Given the description of an element on the screen output the (x, y) to click on. 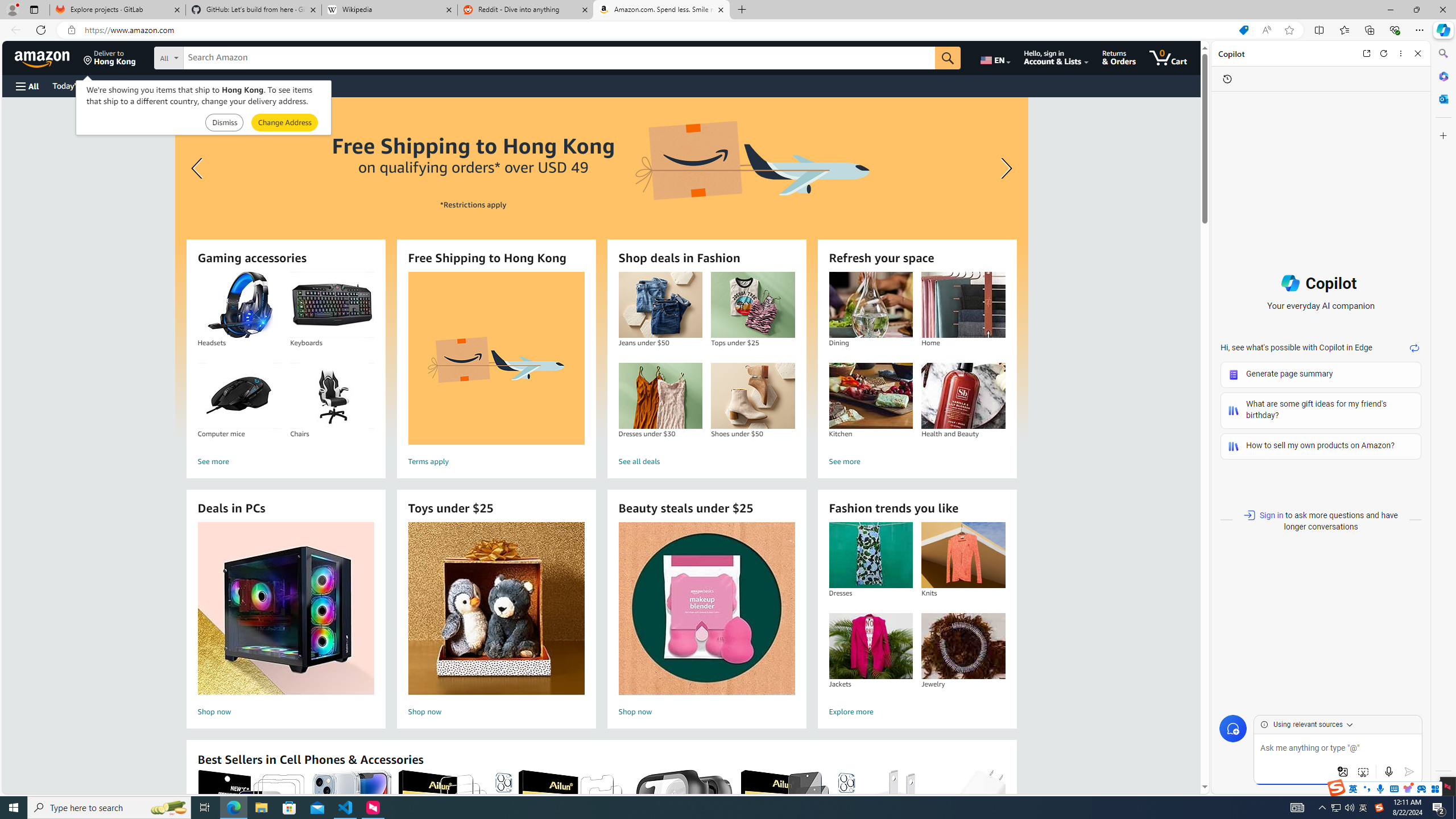
Registry (205, 85)
Jeans under $50 (660, 304)
Gift Cards (251, 85)
Sell (290, 85)
Headsets (239, 304)
Choose a language for shopping. (995, 57)
Search in (210, 58)
Free Shipping to Hong Kong (496, 357)
Tops under $25 (752, 304)
Deals in PCs (285, 608)
Beauty steals under $25 (705, 608)
